Given the description of an element on the screen output the (x, y) to click on. 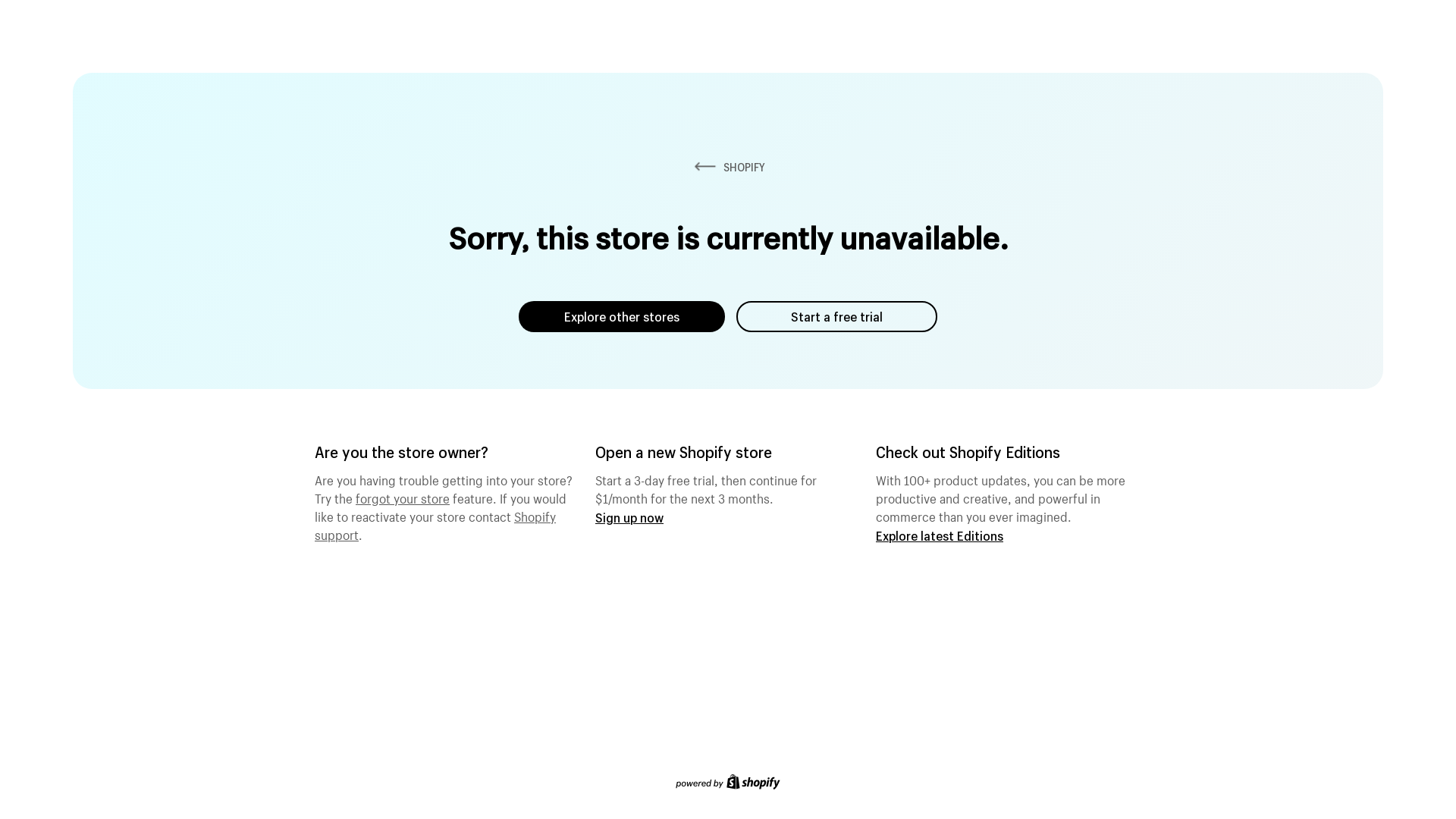
forgot your store Element type: text (402, 496)
Sign up now Element type: text (629, 517)
Explore other stores Element type: text (621, 316)
Start a free trial Element type: text (836, 316)
SHOPIFY Element type: text (727, 167)
Explore latest Editions Element type: text (939, 535)
Shopify support Element type: text (434, 523)
